Given the description of an element on the screen output the (x, y) to click on. 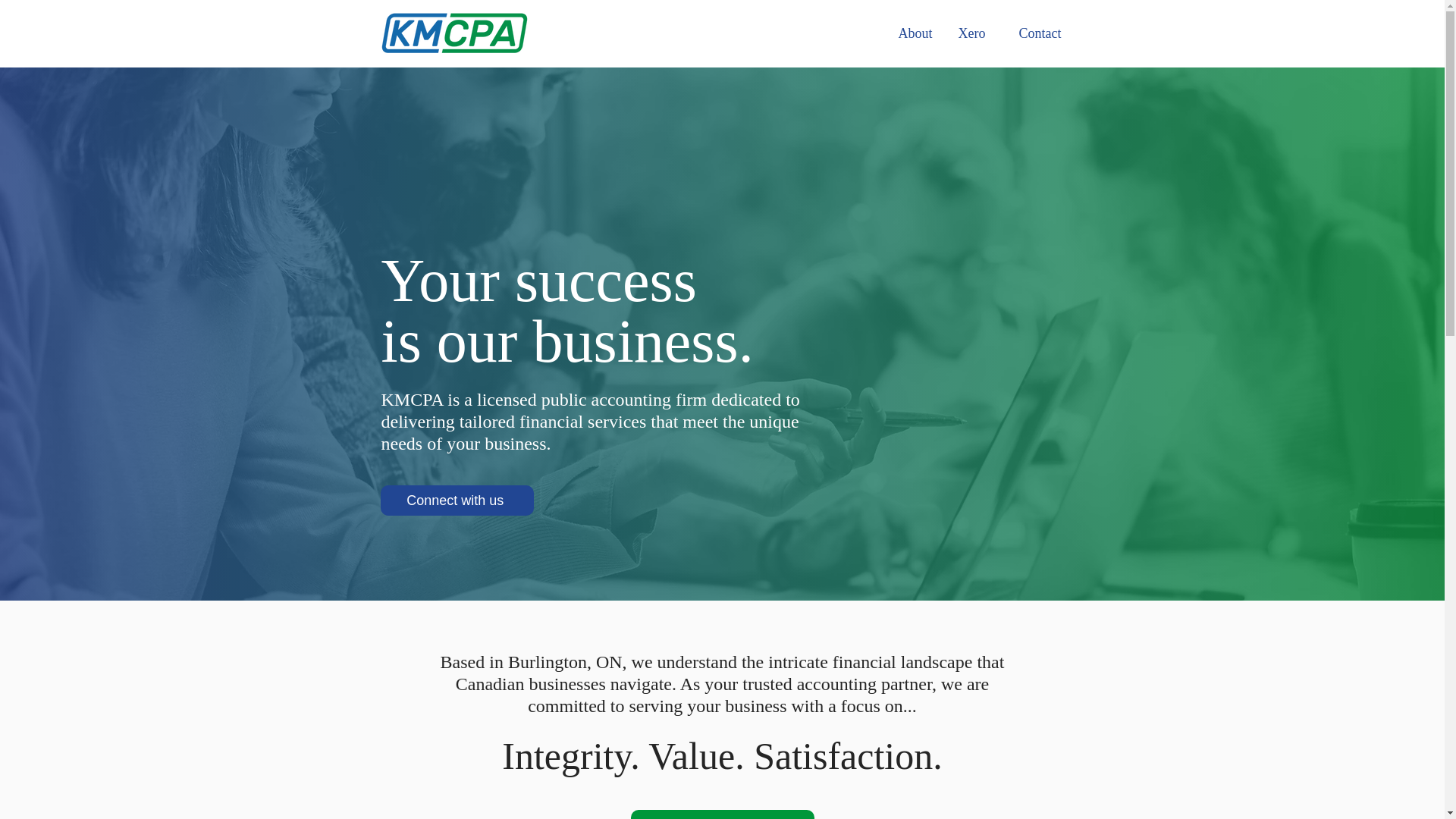
Connect with us (457, 500)
Xero (969, 33)
Contact (1033, 33)
Learn more about us (721, 814)
About (911, 33)
